Given the description of an element on the screen output the (x, y) to click on. 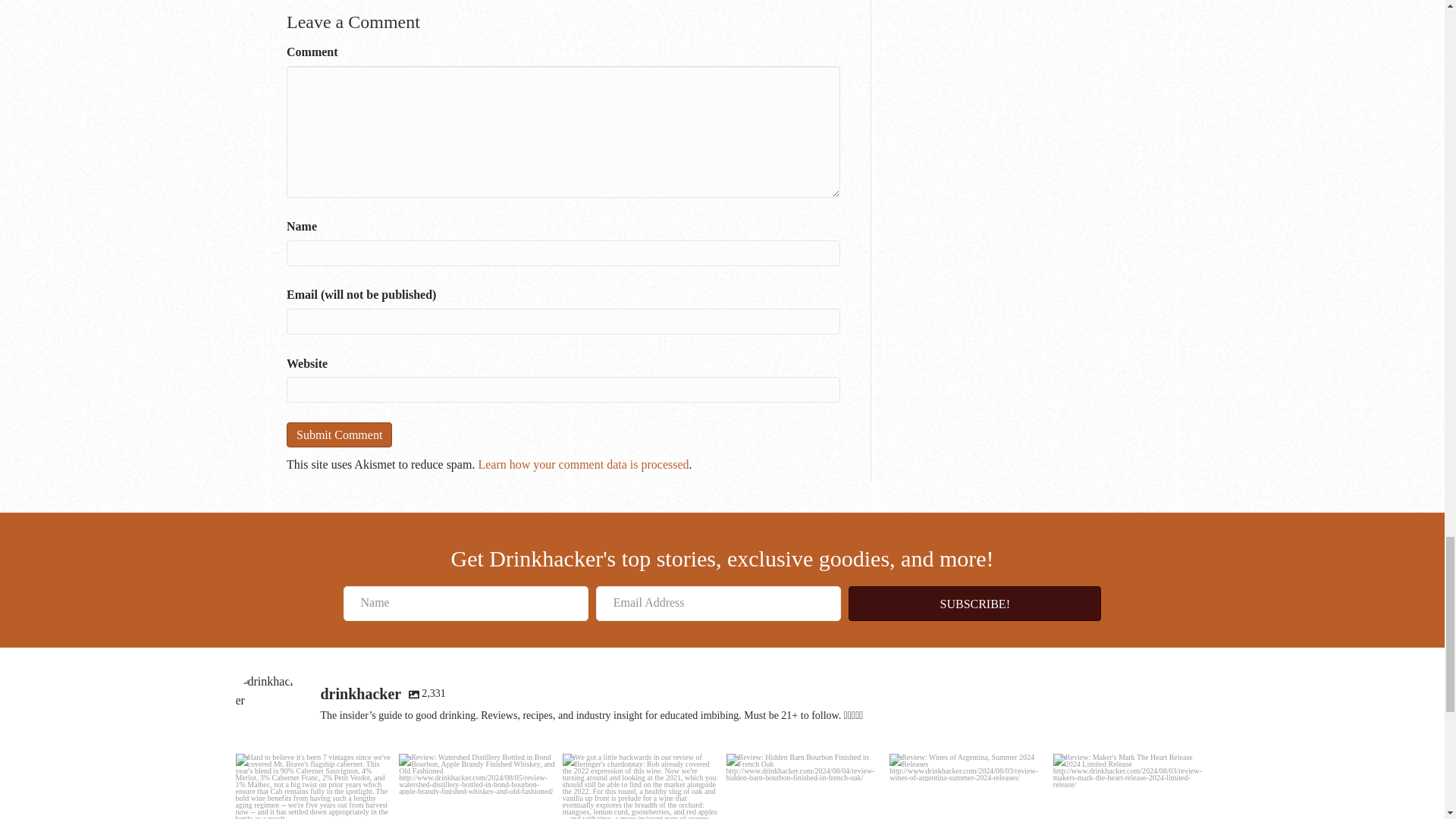
Submit Comment (338, 434)
